Given the description of an element on the screen output the (x, y) to click on. 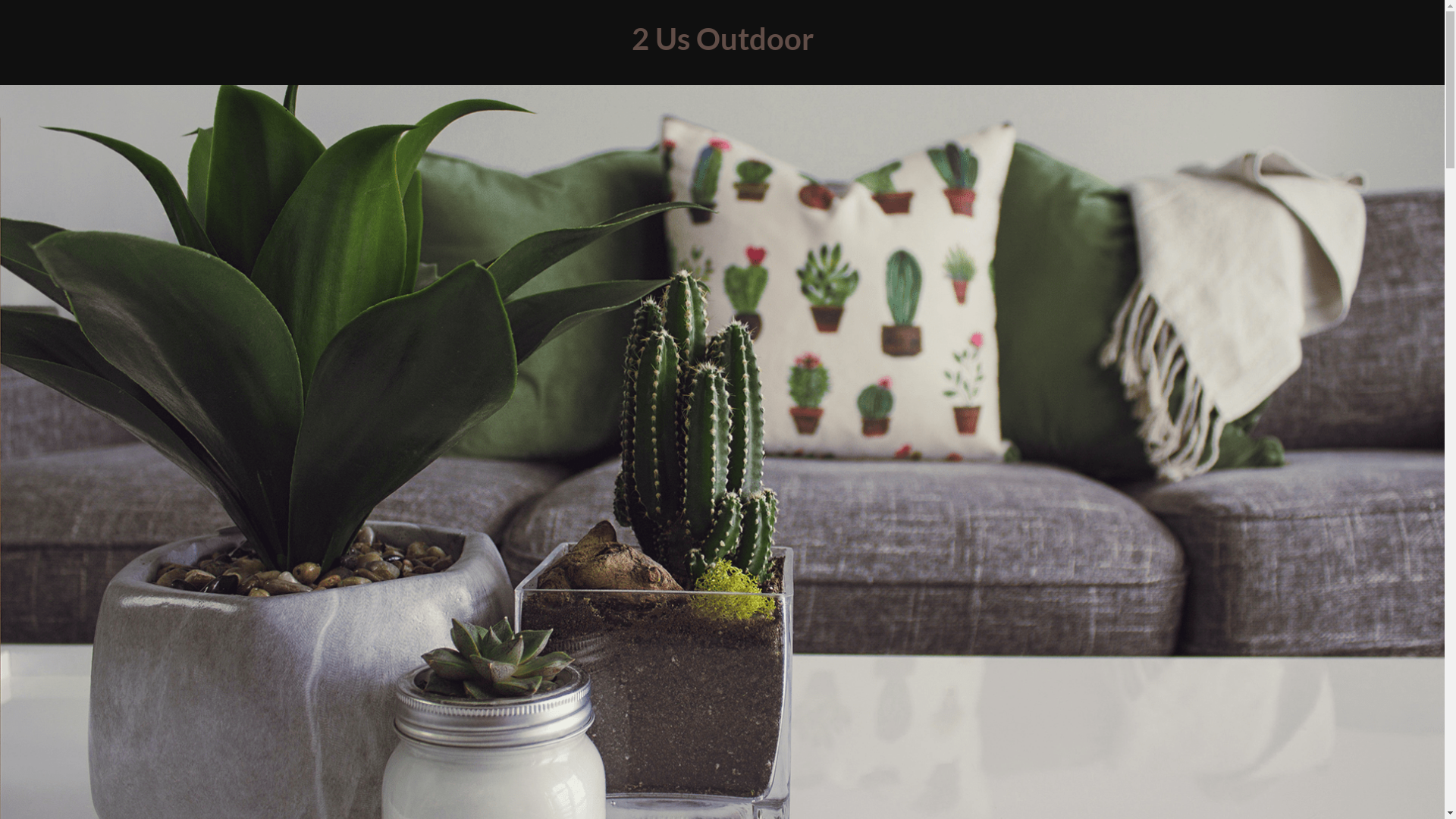
2 Us Outdoor Element type: text (721, 38)
